Given the description of an element on the screen output the (x, y) to click on. 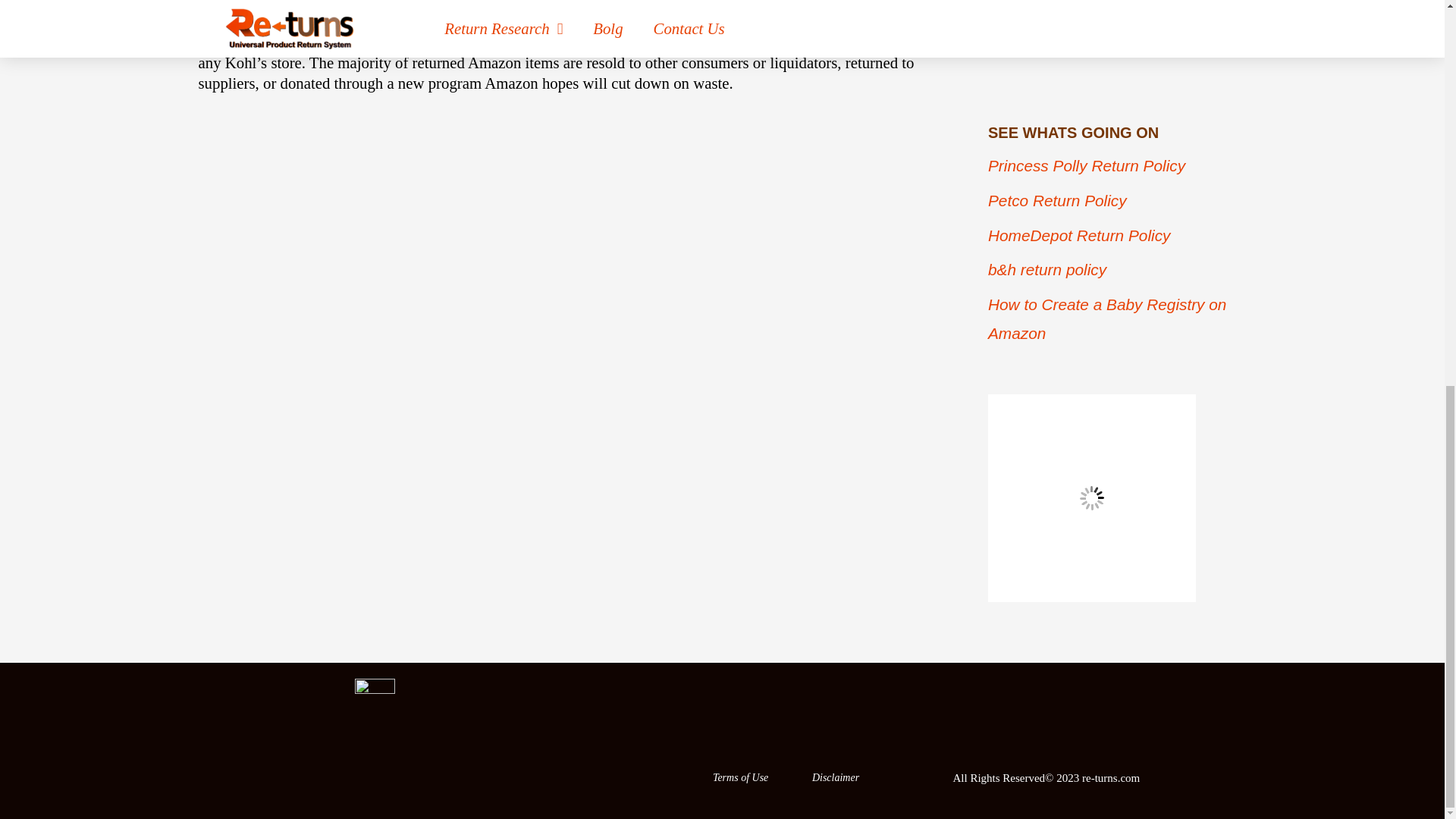
Advertisement (1120, 48)
